Given the description of an element on the screen output the (x, y) to click on. 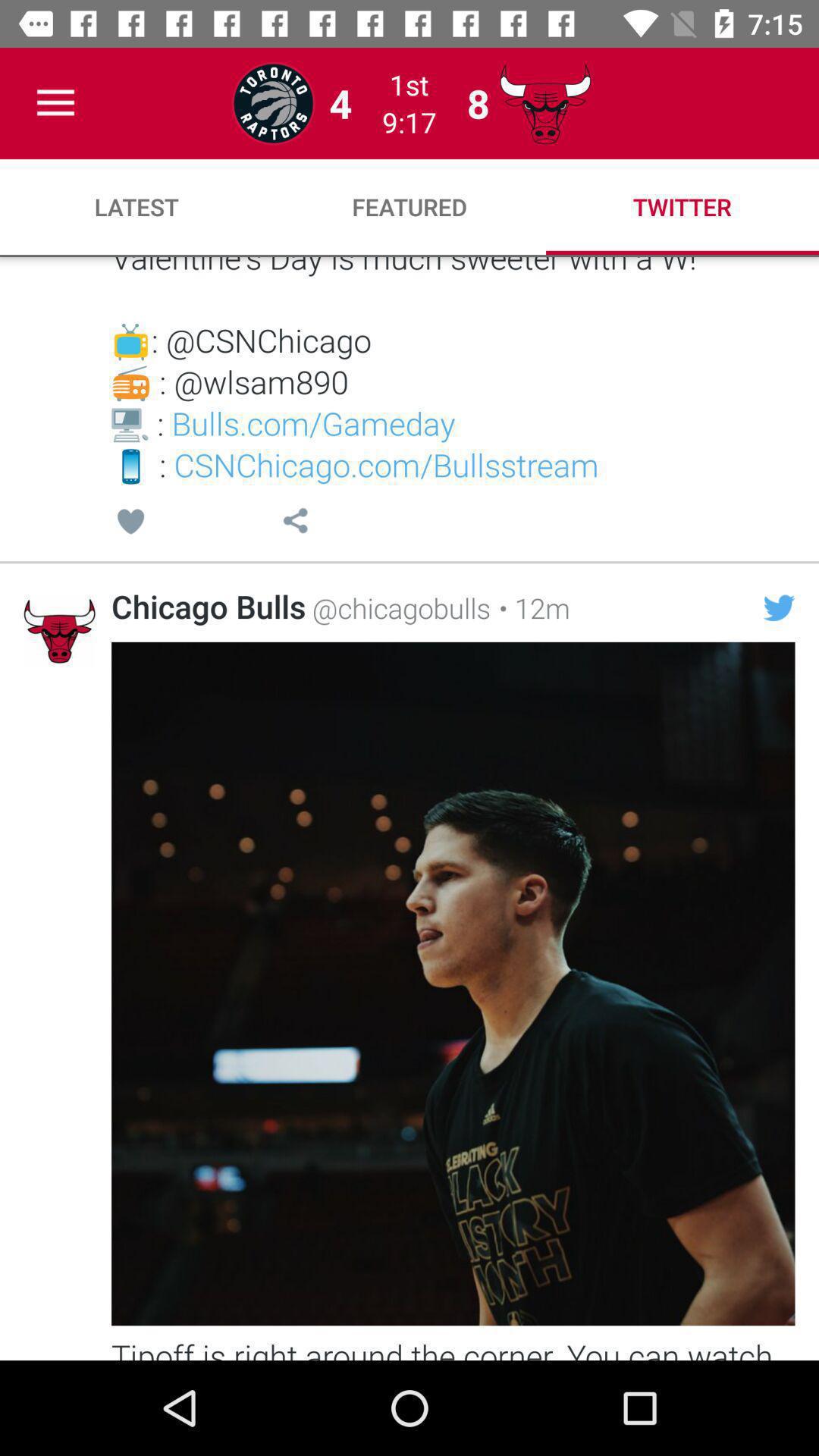
press the icon below the valentine s day (779, 607)
